Given the description of an element on the screen output the (x, y) to click on. 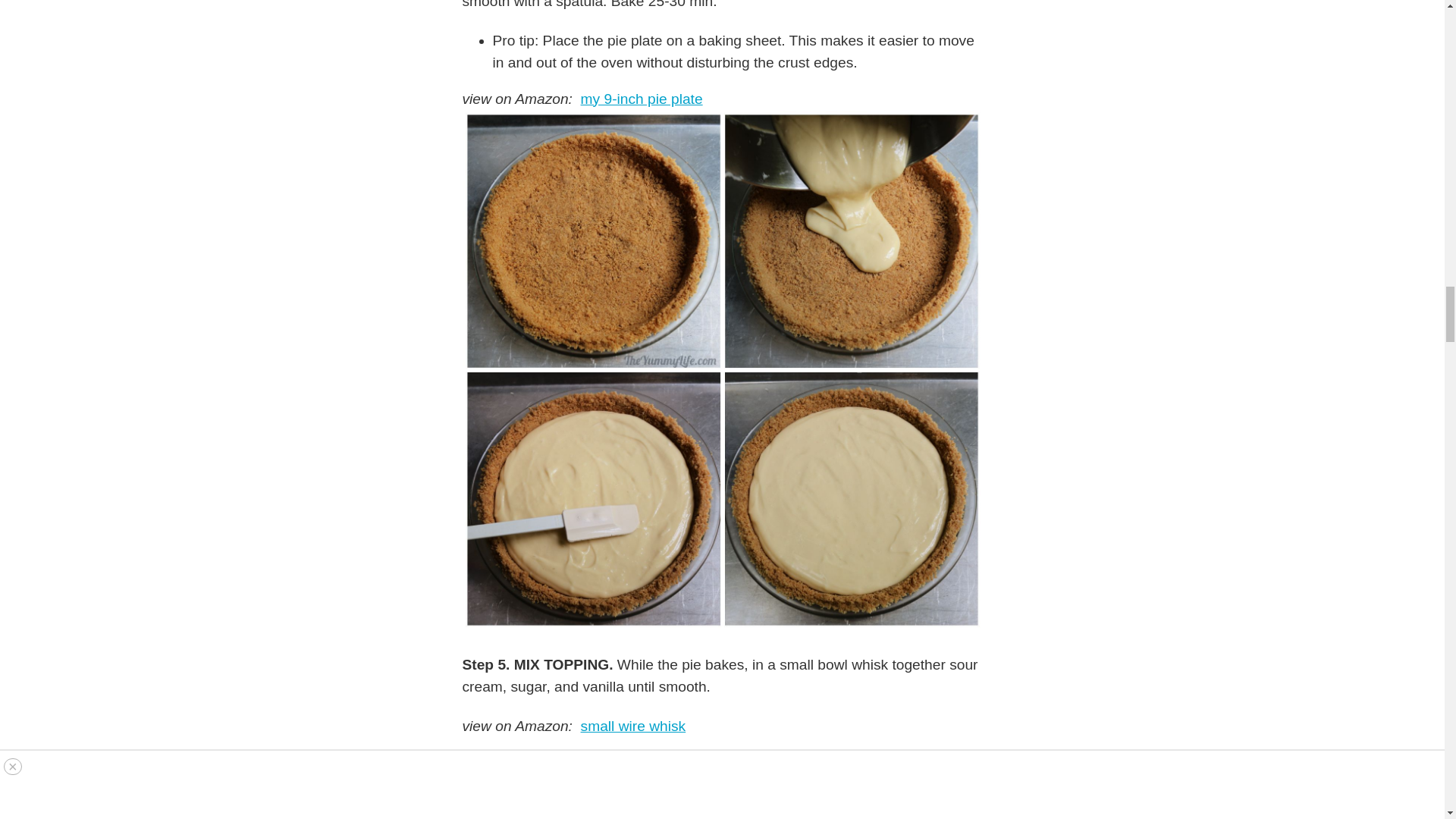
my 9-inch pie plate (641, 98)
small wire whisk (632, 725)
